Given the description of an element on the screen output the (x, y) to click on. 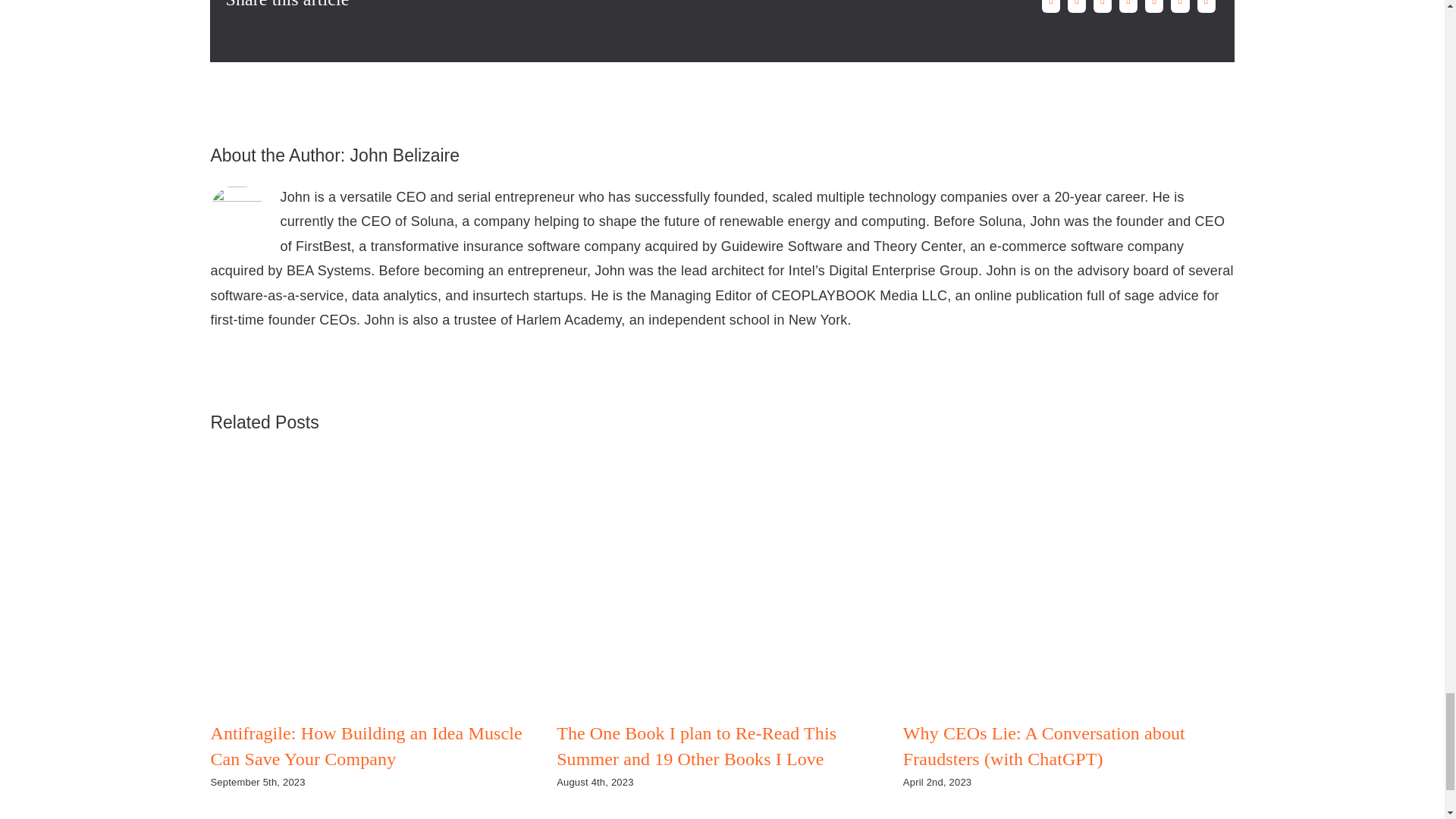
Facebook (1051, 8)
Pinterest (1179, 8)
X (1076, 8)
Reddit (1102, 8)
Email (1206, 8)
LinkedIn (1128, 8)
WhatsApp (1154, 8)
